Given the description of an element on the screen output the (x, y) to click on. 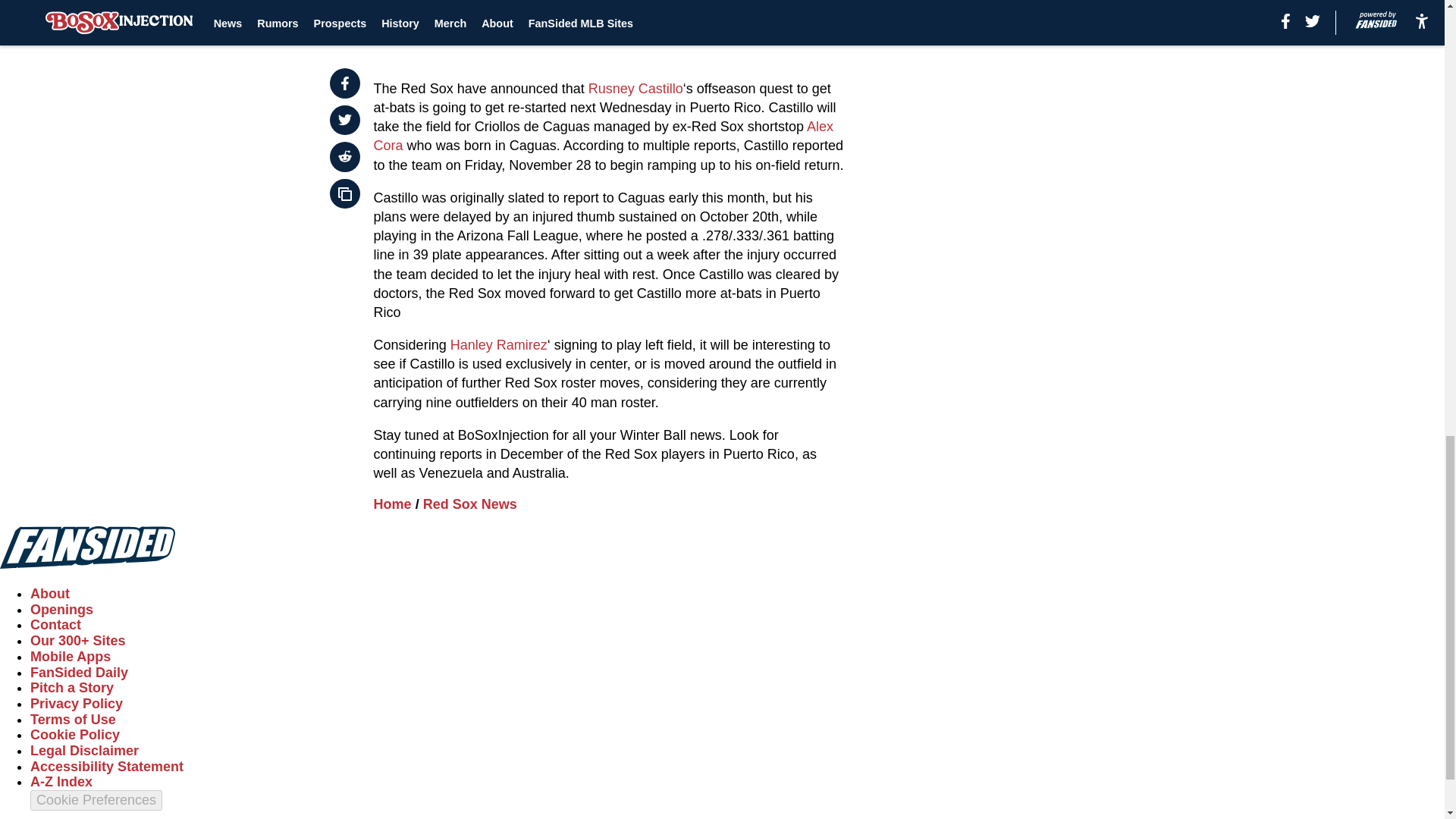
Hanley Ramirez (498, 344)
Mobile Apps (70, 656)
Red Sox News (469, 503)
Home (393, 503)
Openings (61, 609)
Alex Cora (603, 135)
About (49, 593)
Rusney Castillo (635, 88)
Contact (55, 624)
